Given the description of an element on the screen output the (x, y) to click on. 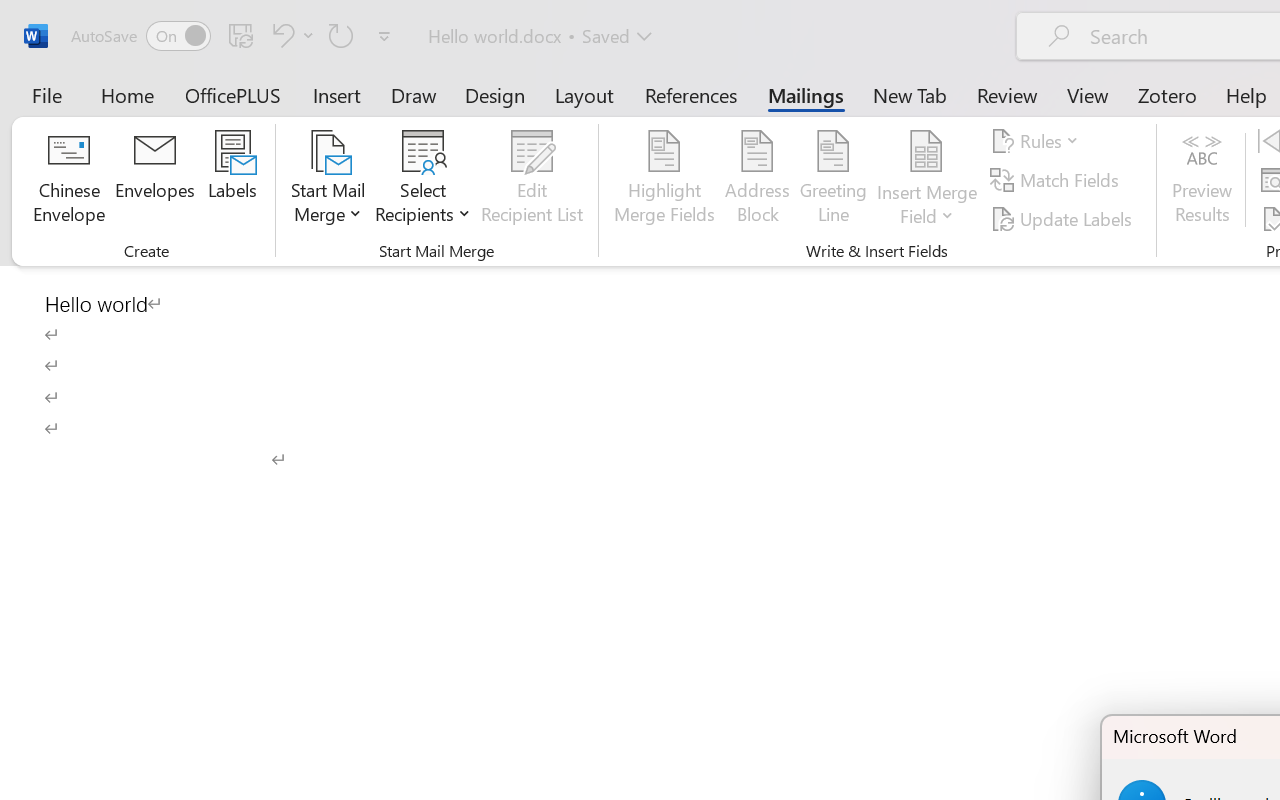
Insert Merge Field (927, 179)
Save (241, 35)
Mailings (806, 94)
Quick Access Toolbar (233, 36)
Edit Recipient List... (532, 179)
AutoSave (140, 35)
References (690, 94)
Design (495, 94)
Chinese Envelope... (68, 179)
File Tab (46, 94)
Envelopes... (155, 179)
Start Mail Merge (328, 179)
Rules (1037, 141)
Undo Click and Type Formatting (280, 35)
Can't Repeat (341, 35)
